Given the description of an element on the screen output the (x, y) to click on. 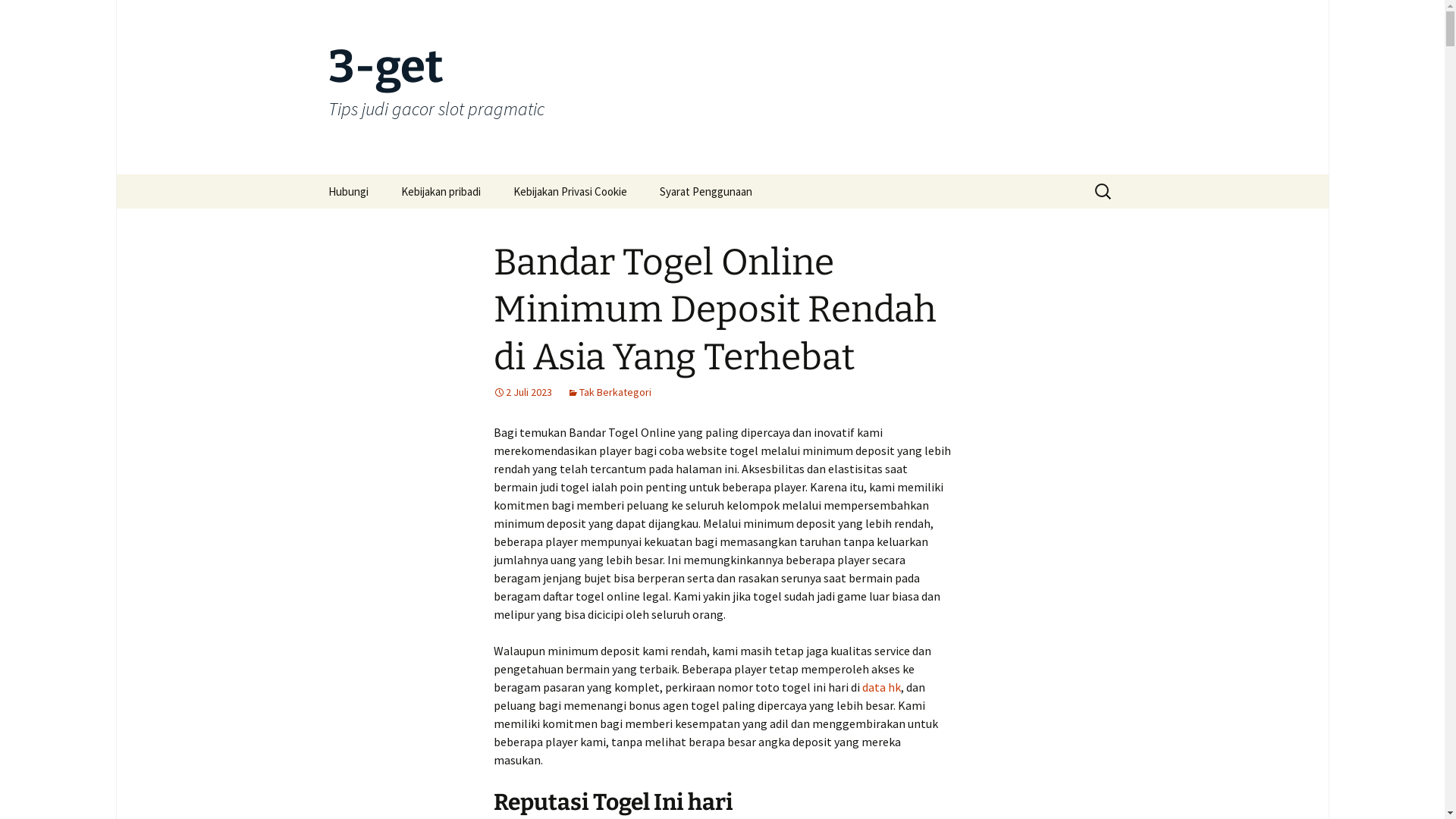
Hubungi Element type: text (347, 191)
3-get
Tips judi gacor slot pragmatic Element type: text (721, 87)
Cari Element type: text (26, 15)
2 Juli 2023 Element type: text (521, 391)
Tak Berkategori Element type: text (609, 391)
Syarat Penggunaan Element type: text (705, 191)
Kebijakan Privasi Cookie Element type: text (569, 191)
data hk Element type: text (880, 686)
Langsung ke isi Element type: text (312, 173)
Cari Element type: text (18, 16)
Kebijakan pribadi Element type: text (440, 191)
